Given the description of an element on the screen output the (x, y) to click on. 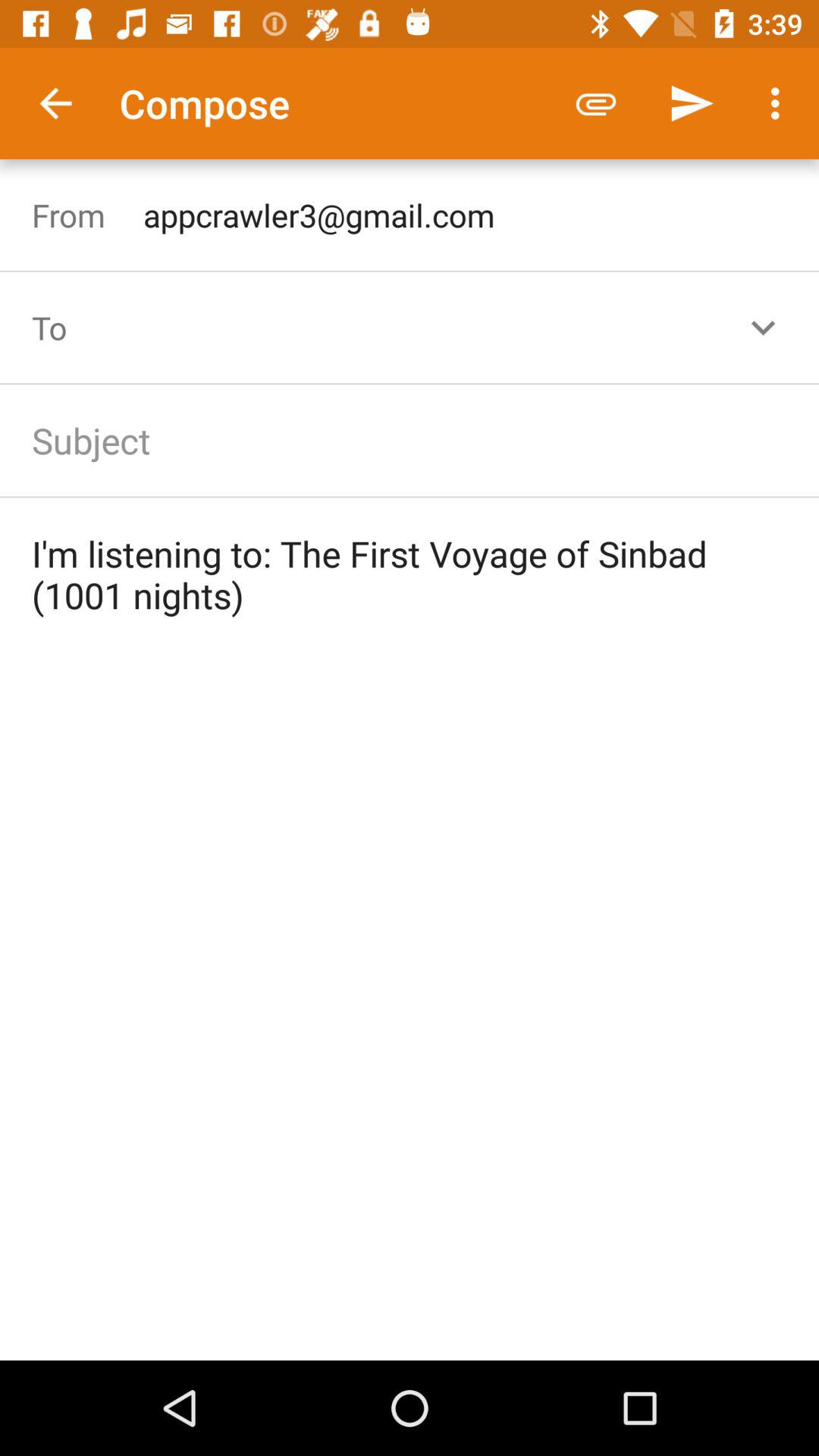
choose item below i m listening icon (409, 1005)
